Given the description of an element on the screen output the (x, y) to click on. 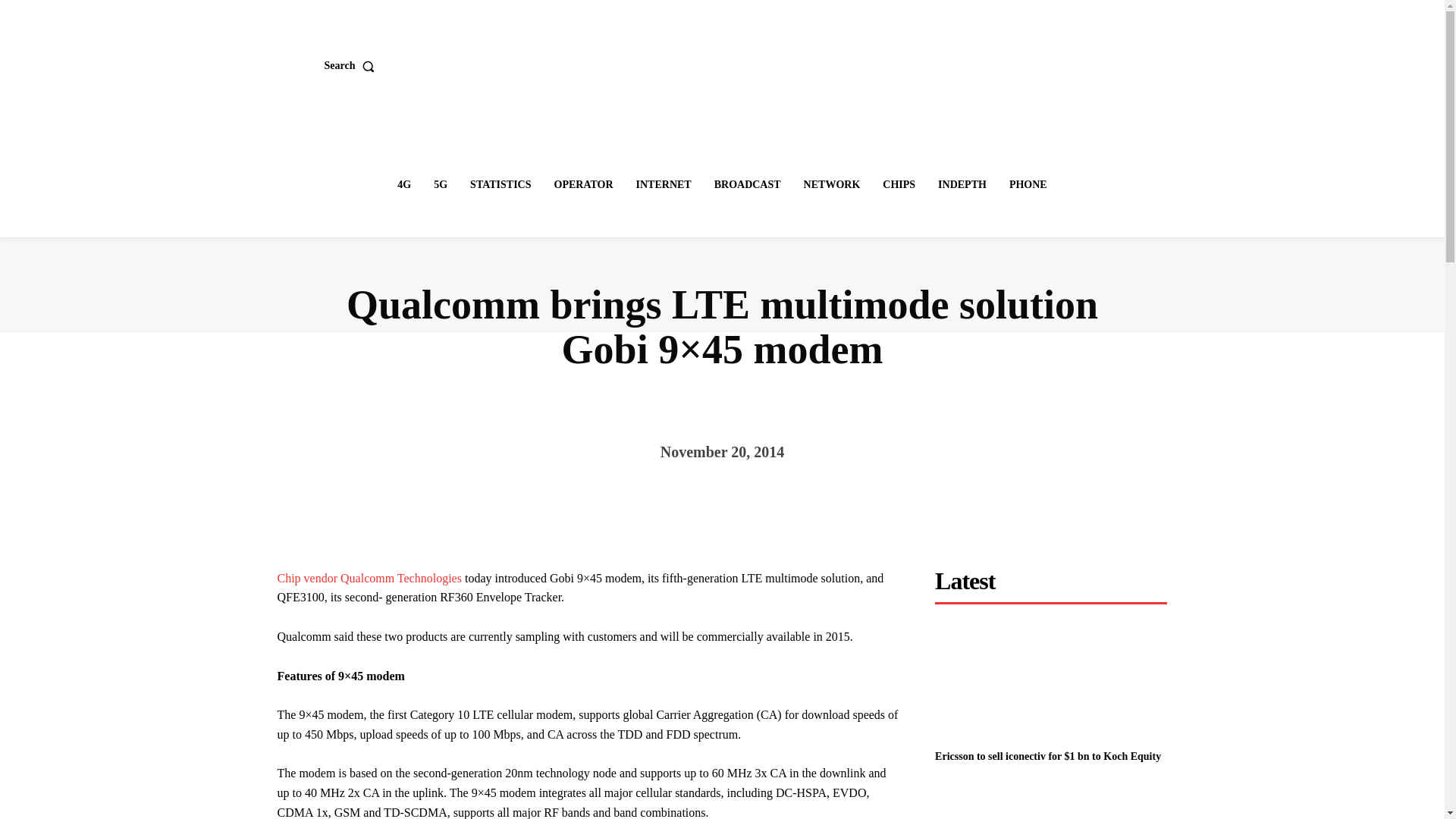
INDEPTH (962, 184)
Chip vendor Qualcomm Technologies (369, 577)
Search (352, 65)
CHIPS (899, 184)
BROADCAST (747, 184)
STATISTICS (500, 184)
5G (440, 184)
INTERNET (663, 184)
NETWORK (831, 184)
4G (404, 184)
